Given the description of an element on the screen output the (x, y) to click on. 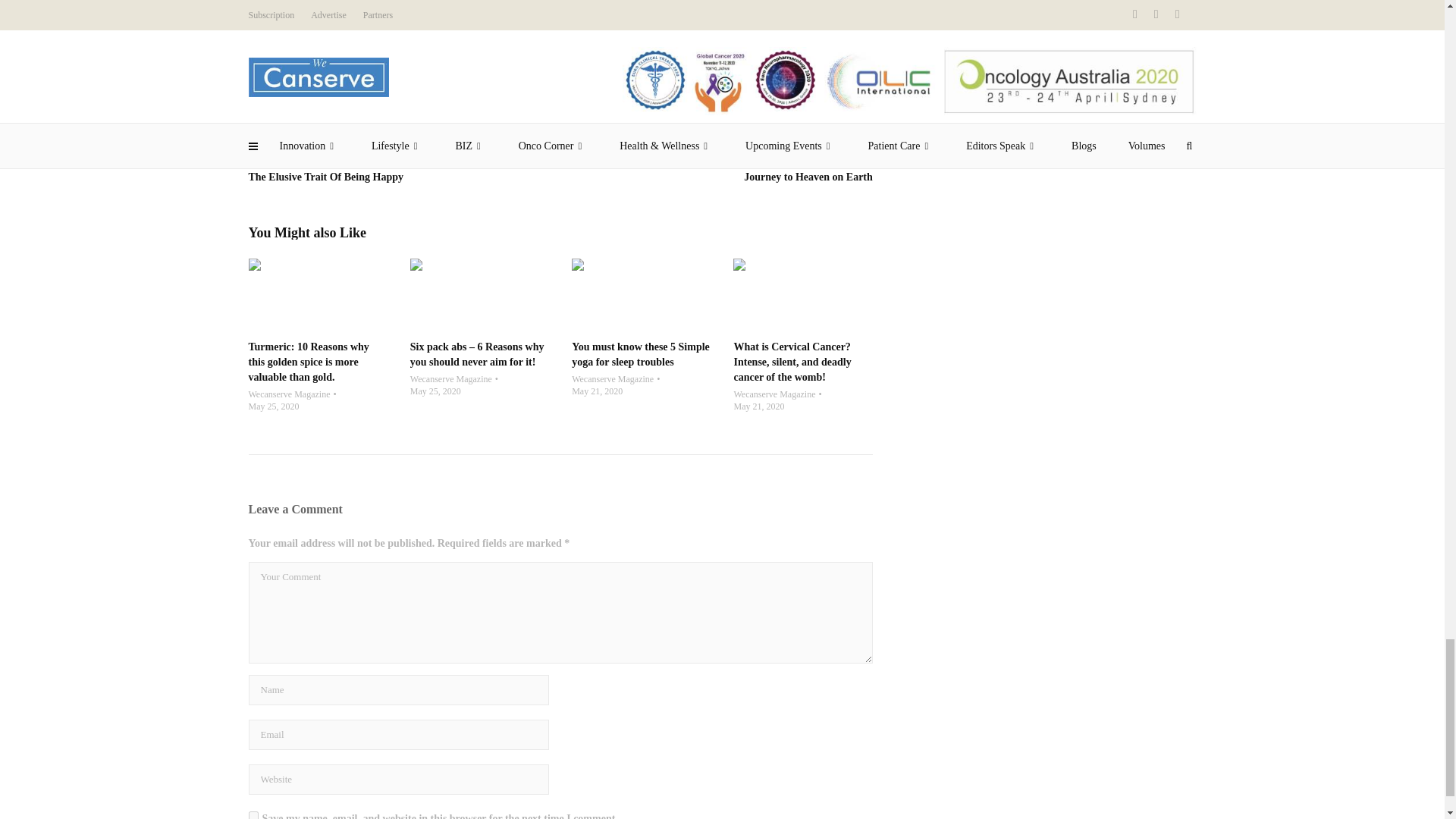
yes (253, 815)
Six pack abs - 6 Reasons why you should never aim for it! 10 (479, 294)
You must know these 5 Simple yoga for sleep troubles 11 (641, 294)
